Given the description of an element on the screen output the (x, y) to click on. 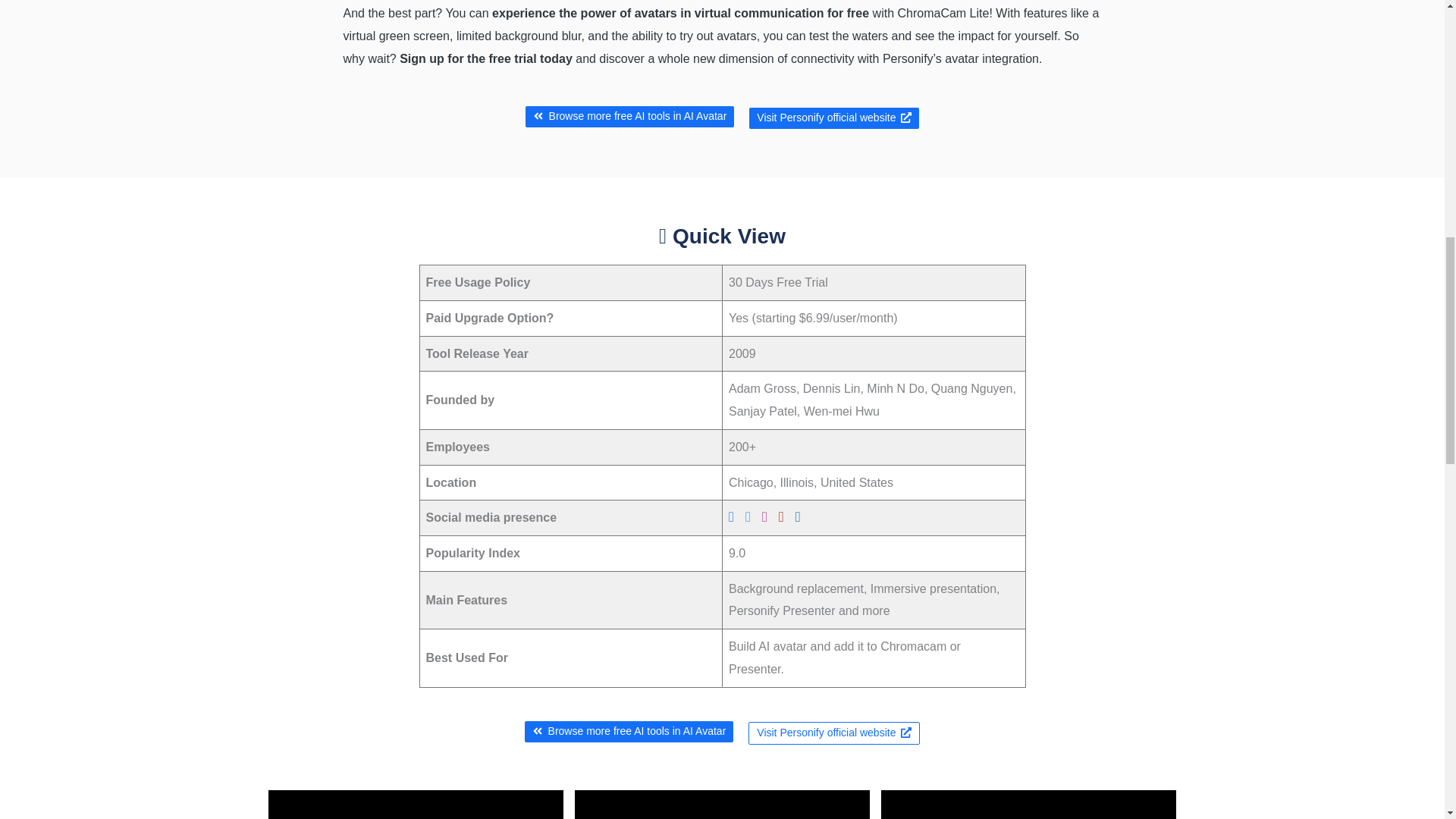
Visit Personify official website (834, 732)
Browse more free AI tools in AI Avatar (630, 116)
Visit Personify official website (833, 117)
Browse more free AI tools in AI Avatar (628, 731)
